Given the description of an element on the screen output the (x, y) to click on. 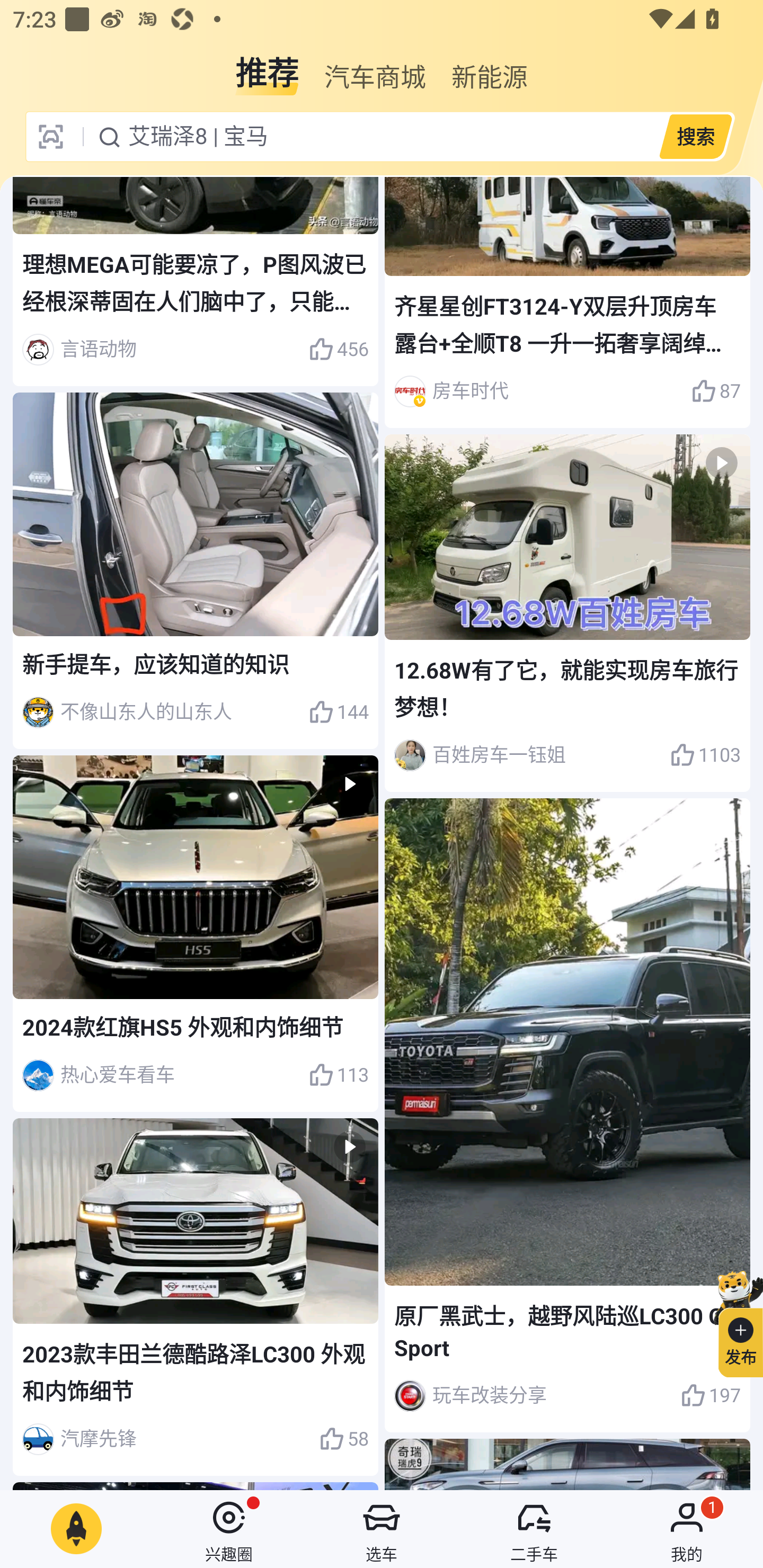
推荐 (267, 65)
汽车商城 (374, 65)
新能源 (489, 65)
搜索 (695, 136)
齐星星创FT3124-Y双层升顶房车 露台+全顺T8 一升一拓奢享阔绰空间 房车时代 87 (567, 302)
456 (338, 349)
87 (715, 390)
新手提车，应该知道的知识 不像山东人的山东人 144 (195, 570)
 12.68W有了它，就能实现房车旅行梦想！ 百姓房车一钰姐 1103 (567, 612)
144 (338, 712)
1103 (704, 755)
 2024款红旗HS5 外观和内饰细节 热心爱车看车 113 (195, 933)
原厂黑武士，越野风陆巡LC300 GR Sport 玩车改装分享 197 (567, 1115)
113 (338, 1075)
 2023款丰田兰德酷路泽LC300 外观和内饰细节 汽摩先锋 58 (195, 1296)
发布 (732, 1321)
197 (710, 1395)
58 (343, 1438)
 兴趣圈 (228, 1528)
 选车 (381, 1528)
 二手车 (533, 1528)
 我的 (686, 1528)
